Given the description of an element on the screen output the (x, y) to click on. 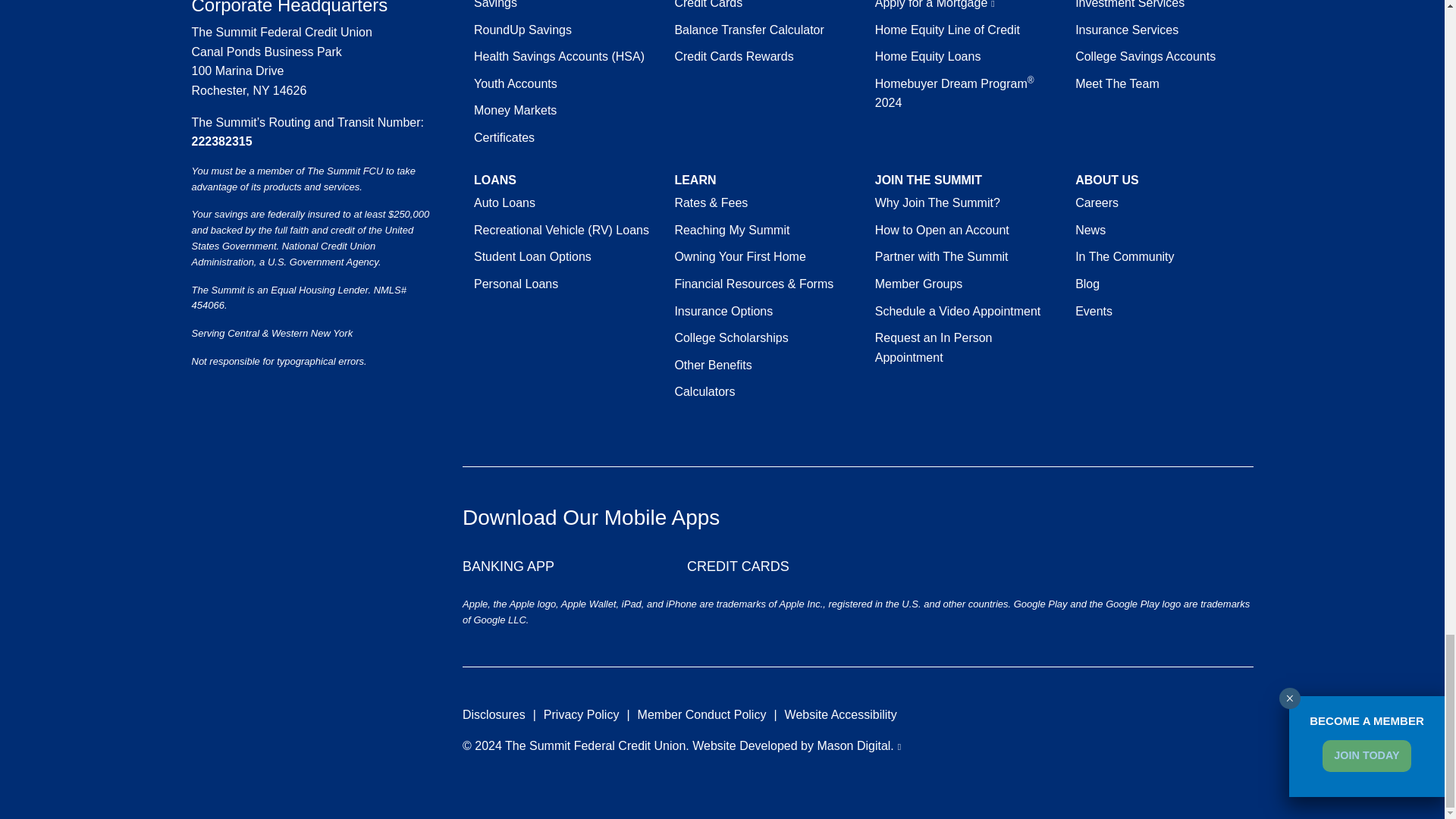
View the developers website (858, 745)
